Given the description of an element on the screen output the (x, y) to click on. 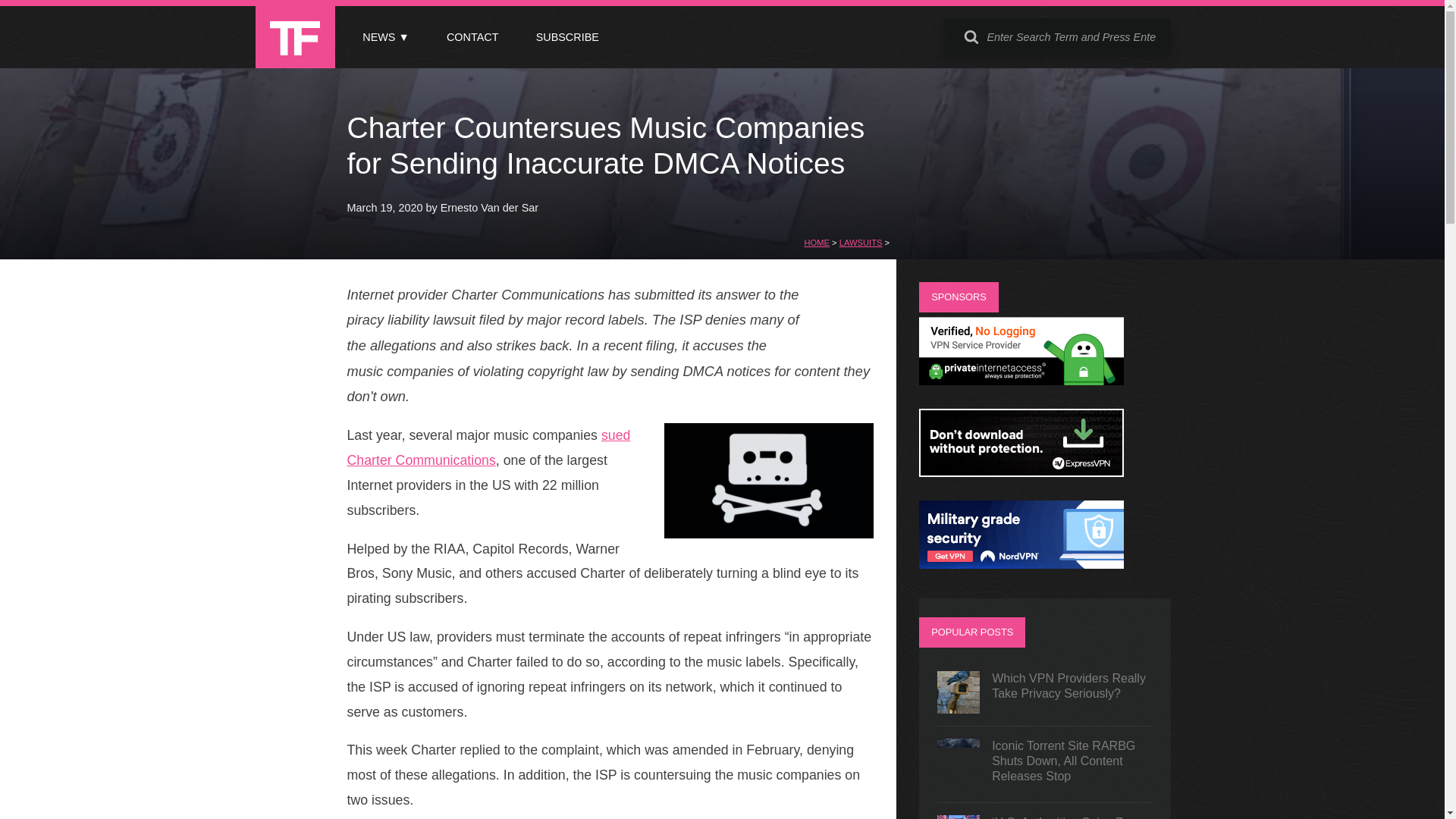
LAWSUITS (861, 242)
Go to TorrentFreak. (816, 242)
sued Charter Communications (488, 447)
Which VPN Providers Really Take Privacy Seriously? (1045, 691)
ExpressVPN (1021, 472)
SUBSCRIBE (566, 37)
Private Internet Access (1021, 380)
CONTACT (471, 37)
Ernesto Van der Sar (489, 207)
Go to the Lawsuits category archives. (861, 242)
HOME (816, 242)
